Given the description of an element on the screen output the (x, y) to click on. 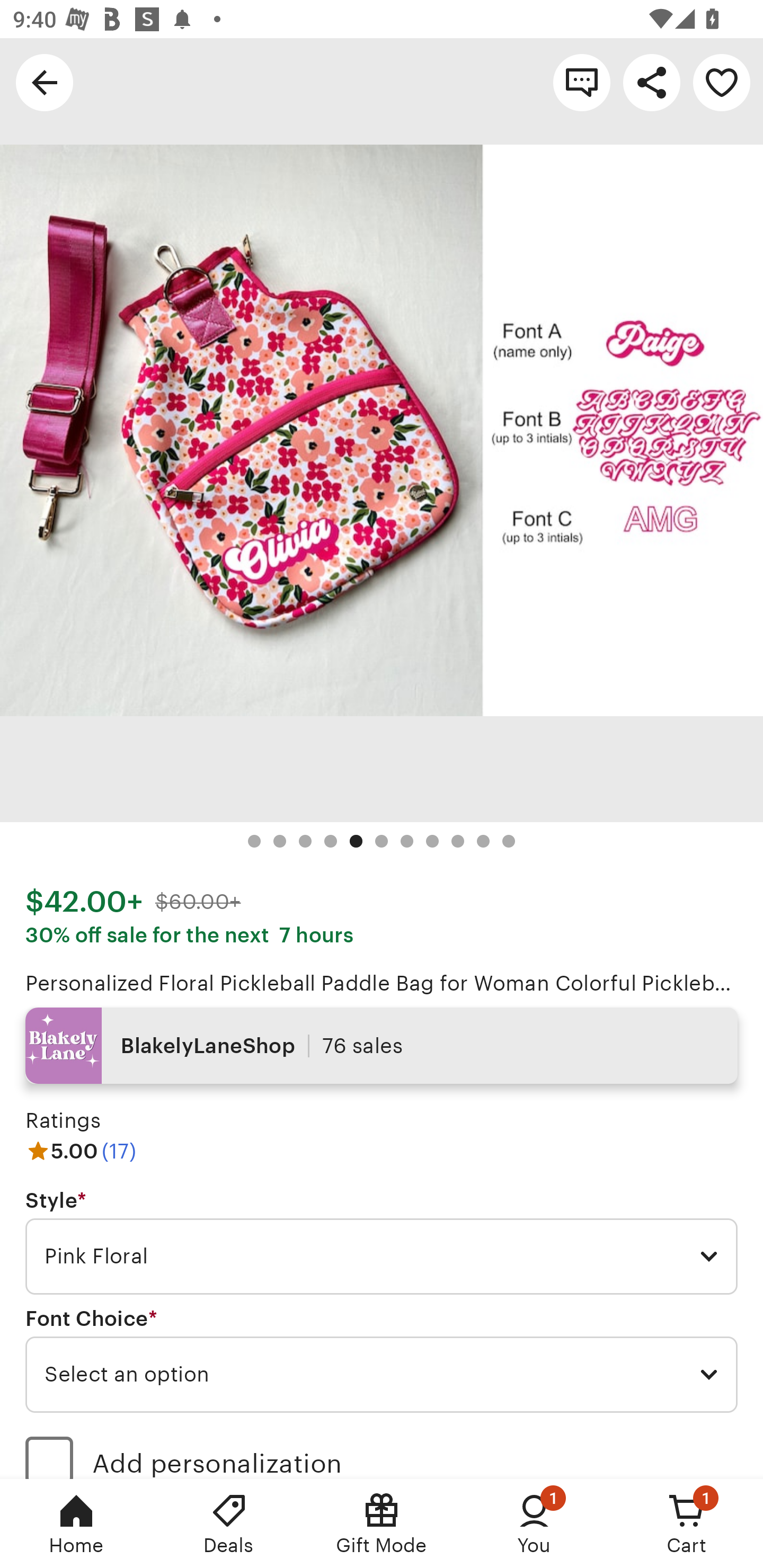
Navigate up (44, 81)
Contact shop (581, 81)
Share (651, 81)
BlakelyLaneShop 76 sales (381, 1045)
Ratings (62, 1120)
5.00 (17) (80, 1150)
Style * Required Pink Floral (381, 1241)
Pink Floral (381, 1256)
Font Choice * Required Select an option (381, 1359)
Select an option (381, 1373)
Add personalization (optional) Add personalization (381, 1451)
Deals (228, 1523)
Gift Mode (381, 1523)
You, 1 new notification You (533, 1523)
Cart, 1 new notification Cart (686, 1523)
